Given the description of an element on the screen output the (x, y) to click on. 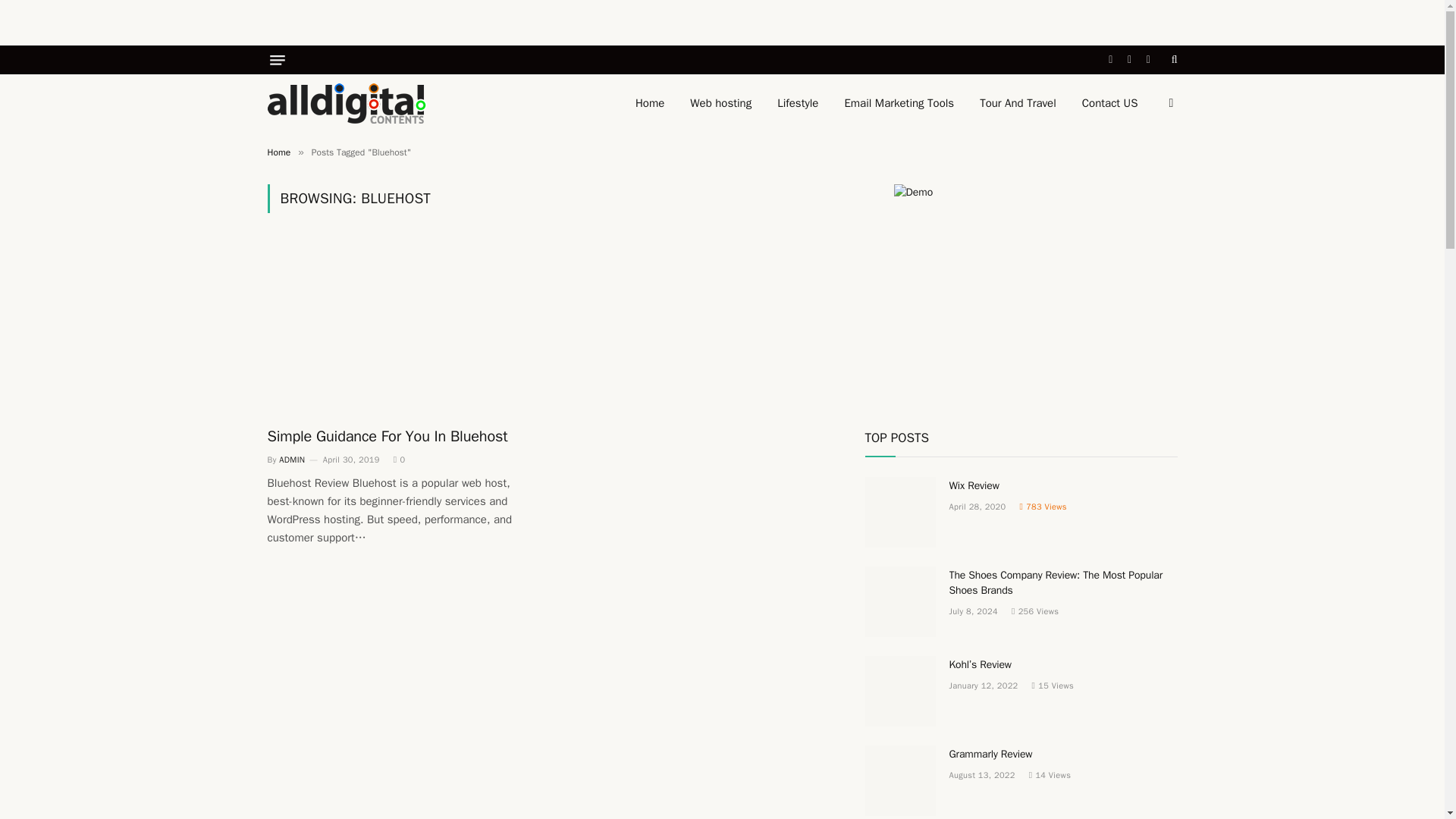
256 Article Views (1034, 611)
Wix Review (900, 511)
Home (277, 152)
Simple Guidance For You In Bluehost (398, 328)
The Shoes Company Review: The Most Popular Shoes Brands (1063, 583)
Simple Guidance For You In Bluehost (398, 435)
Tour And Travel (1017, 102)
All Digital Contents (346, 103)
Contact US (1109, 102)
Wix Review (1063, 485)
